Given the description of an element on the screen output the (x, y) to click on. 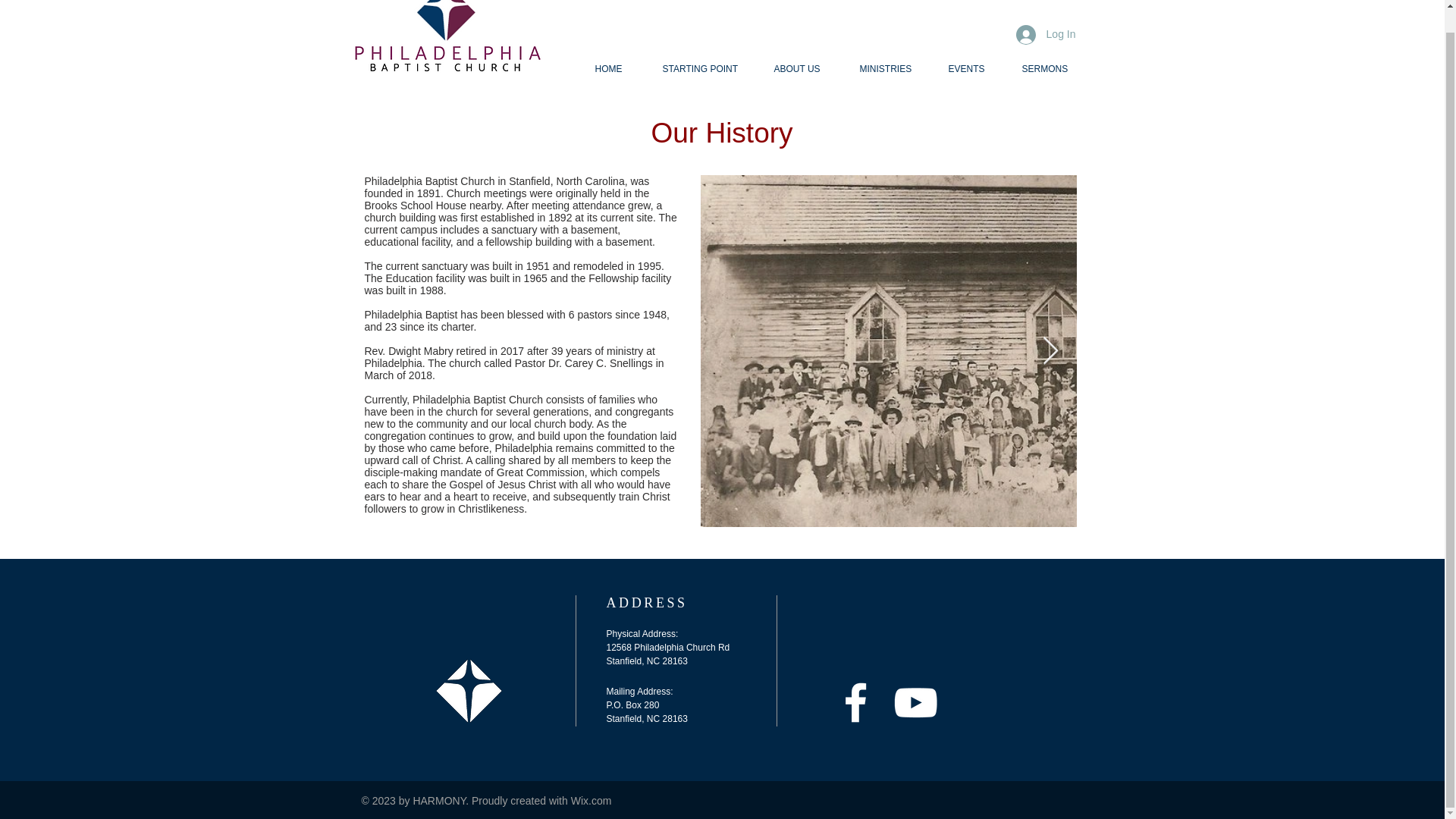
STARTING POINT (705, 68)
HOME (616, 68)
Log In (1046, 34)
EVENTS (973, 68)
SERMONS (1051, 68)
Wix.com (590, 800)
